Given the description of an element on the screen output the (x, y) to click on. 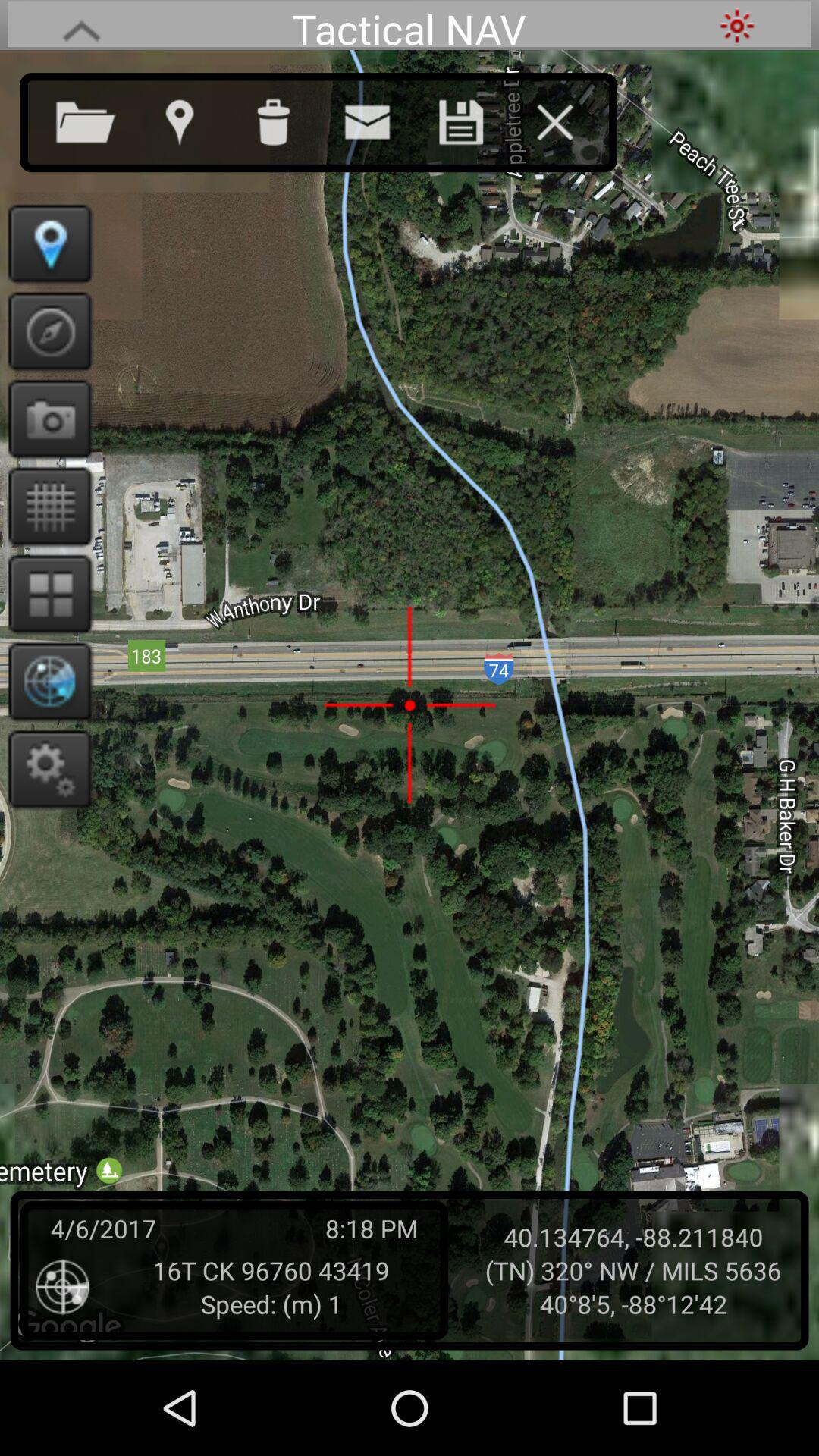
change brightness (737, 25)
